Given the description of an element on the screen output the (x, y) to click on. 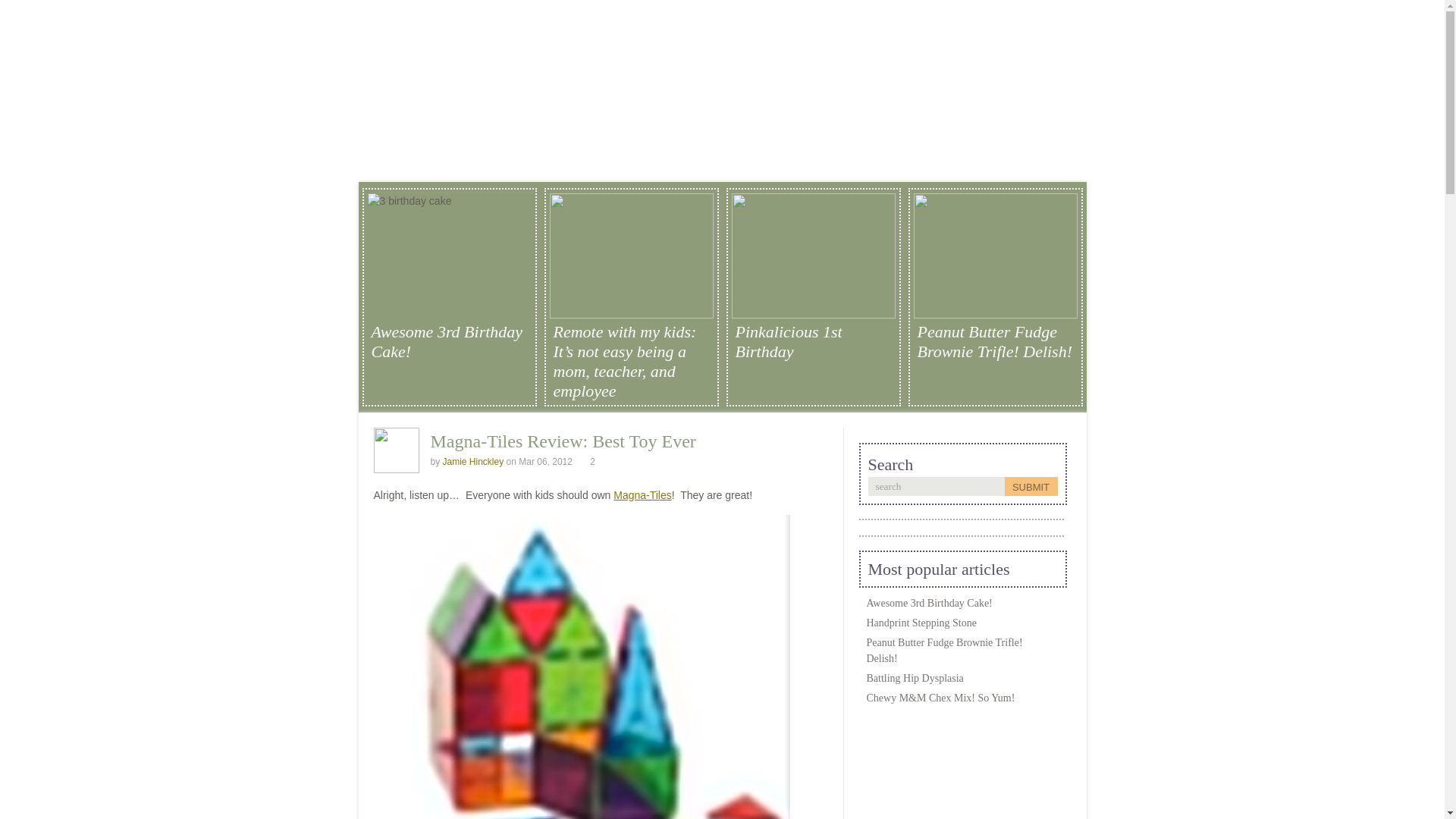
Handprint Stepping Stone (920, 622)
Enchanted Mommy (706, 64)
Crafts (475, 163)
Musings (809, 163)
Awesome 3rd Birthday Cake! (449, 341)
Peanut Butter Fudge Brownie Trifle! Delish! (944, 650)
search (935, 486)
Magna-Tiles (641, 494)
Awesome 3rd Birthday Cake! (928, 603)
Pinkalicious 1st Birthday (813, 341)
